Given the description of an element on the screen output the (x, y) to click on. 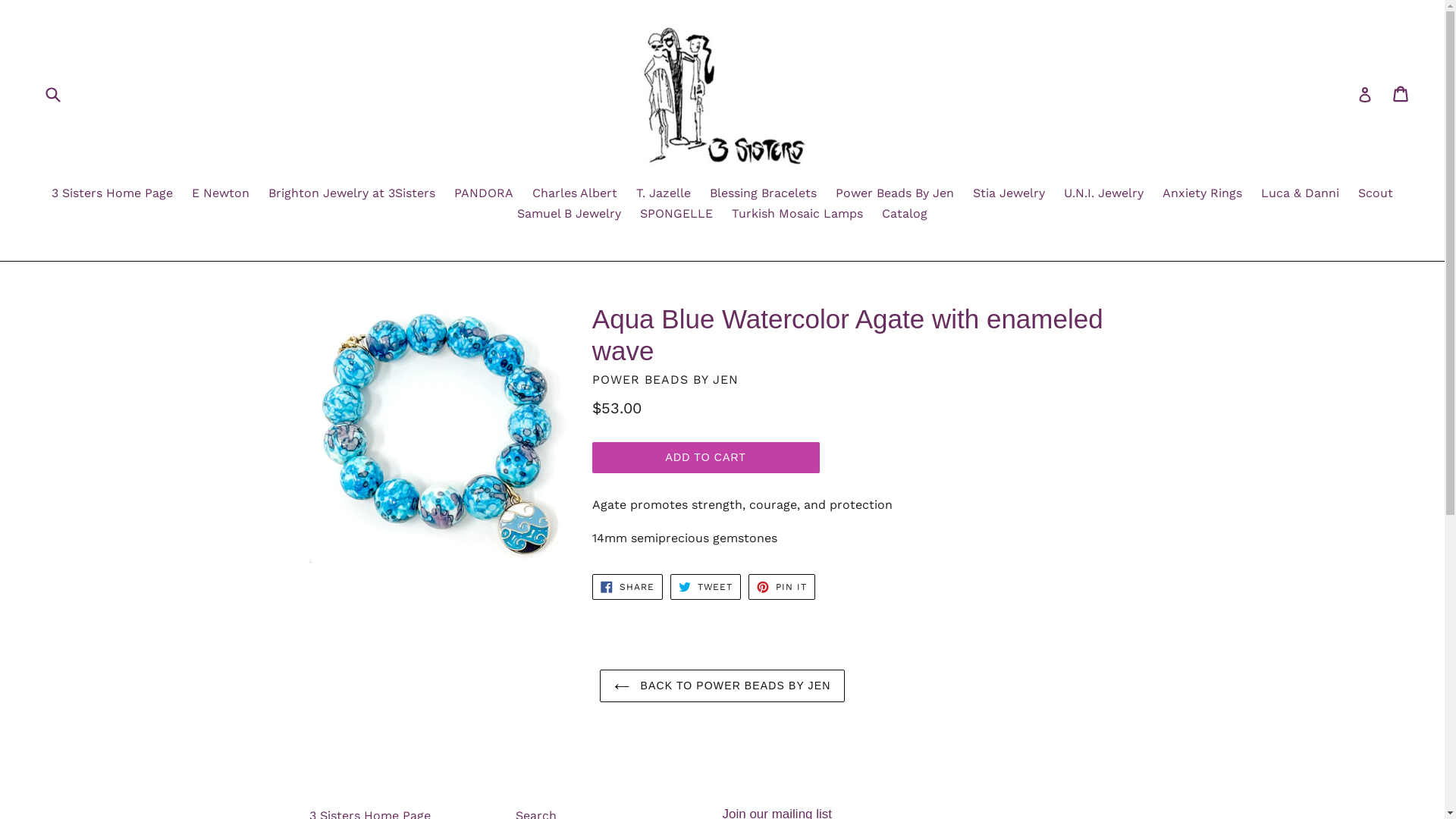
Stia Jewelry Element type: text (1008, 193)
Samuel B Jewelry Element type: text (568, 214)
Log in Element type: text (1364, 93)
Brighton Jewelry at 3Sisters Element type: text (351, 193)
Turkish Mosaic Lamps Element type: text (797, 214)
SHARE
SHARE ON FACEBOOK Element type: text (627, 586)
PANDORA Element type: text (483, 193)
ADD TO CART Element type: text (705, 457)
Charles Albert Element type: text (574, 193)
Blessing Bracelets Element type: text (763, 193)
U.N.I. Jewelry Element type: text (1103, 193)
Power Beads By Jen Element type: text (894, 193)
Anxiety Rings Element type: text (1201, 193)
Luca & Danni Element type: text (1299, 193)
TWEET
TWEET ON TWITTER Element type: text (705, 586)
PIN IT
PIN ON PINTEREST Element type: text (781, 586)
BACK TO POWER BEADS BY JEN Element type: text (722, 685)
Scout Element type: text (1375, 193)
SPONGELLE Element type: text (676, 214)
E Newton Element type: text (220, 193)
Cart
Cart Element type: text (1401, 93)
Catalog Element type: text (904, 214)
Submit Element type: text (51, 93)
T. Jazelle Element type: text (663, 193)
3 Sisters Home Page Element type: text (111, 193)
